Given the description of an element on the screen output the (x, y) to click on. 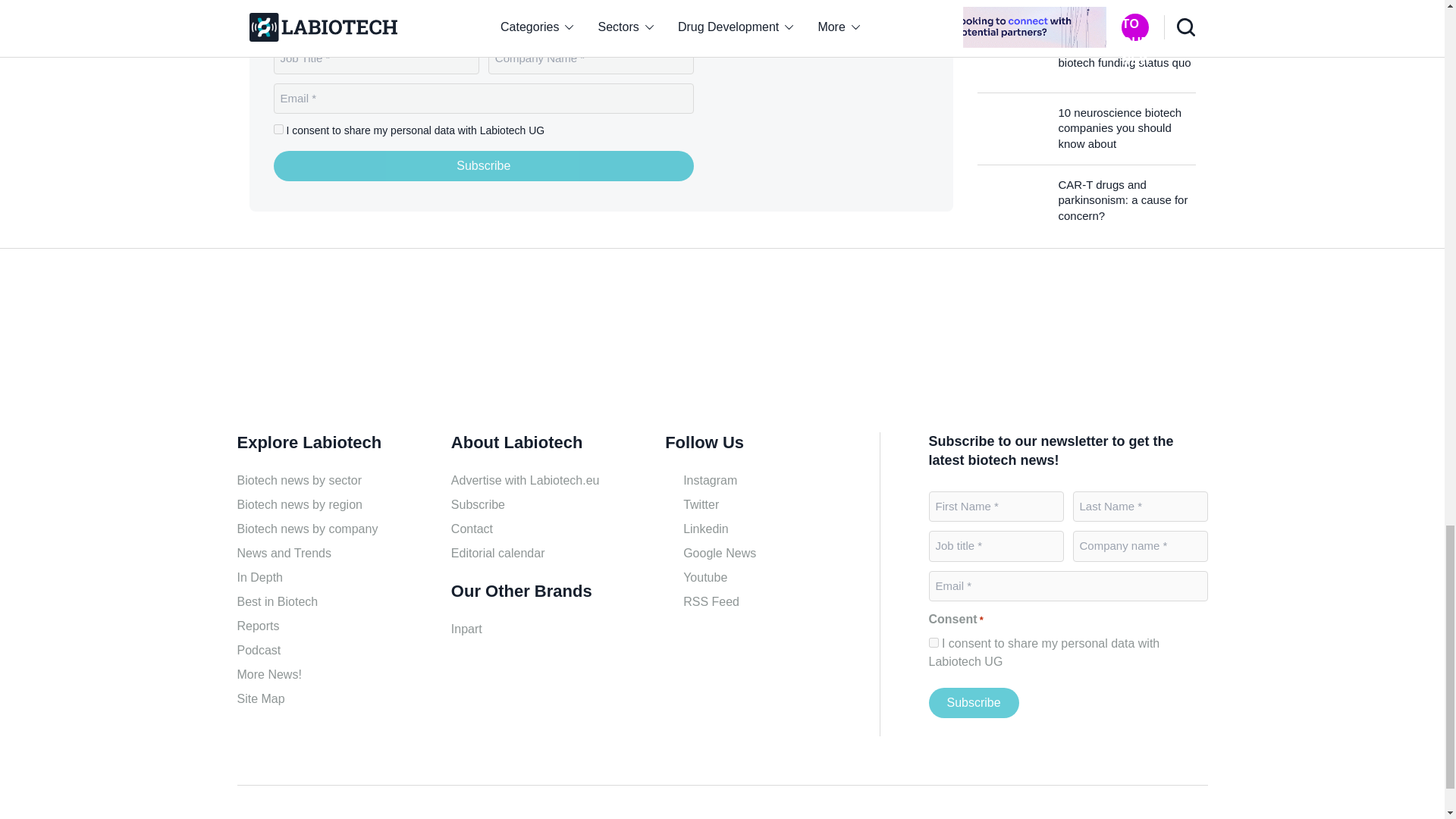
Subscribe (483, 165)
Subscribe (972, 702)
Labiotech.eu (309, 346)
Labiotech.eu (834, 106)
1 (932, 642)
1 (277, 129)
